Given the description of an element on the screen output the (x, y) to click on. 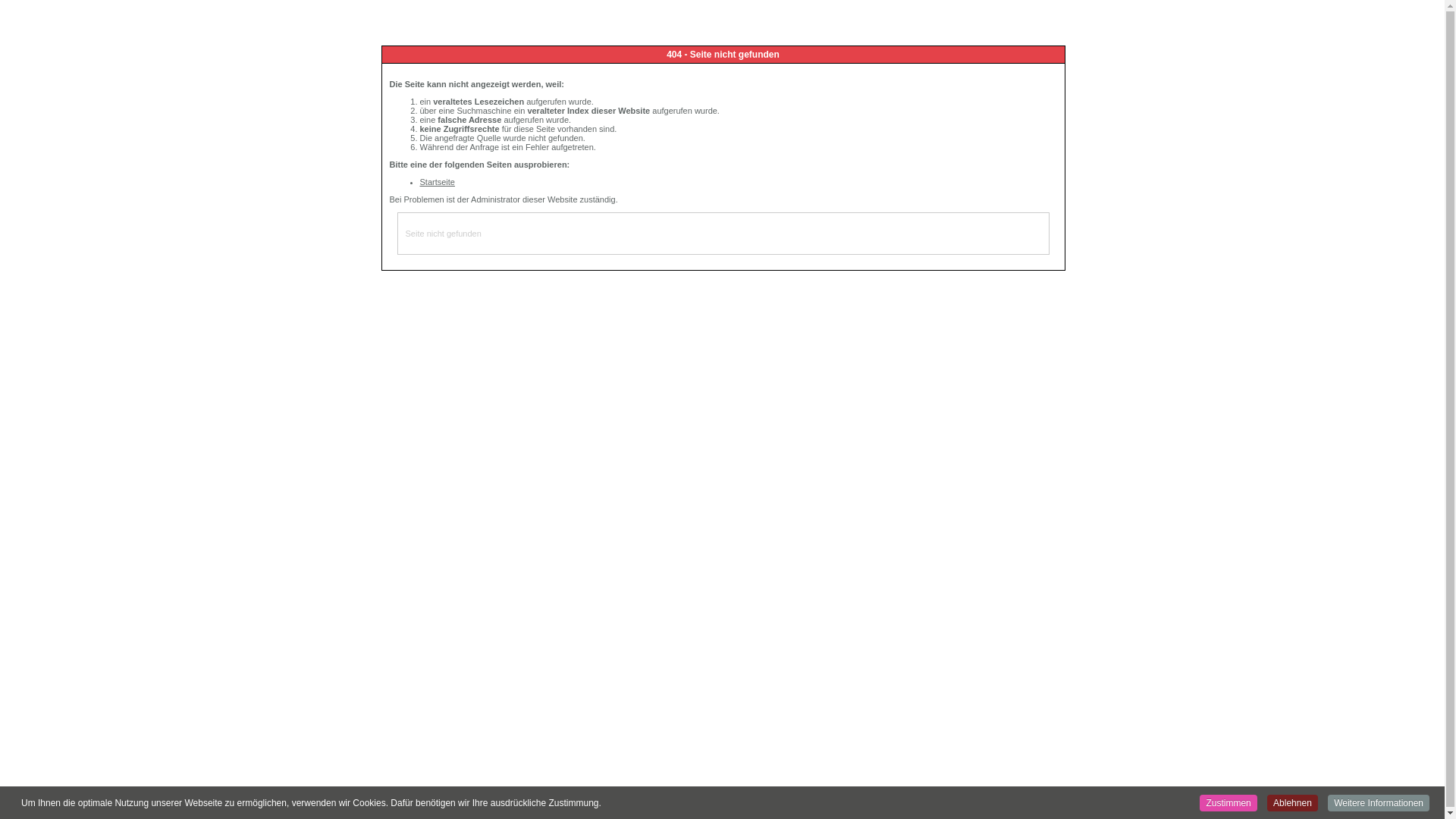
Startseite Element type: text (437, 181)
Zustimmen Element type: text (1227, 802)
Ablehnen Element type: text (1292, 802)
Weitere Informationen Element type: text (1378, 802)
